Given the description of an element on the screen output the (x, y) to click on. 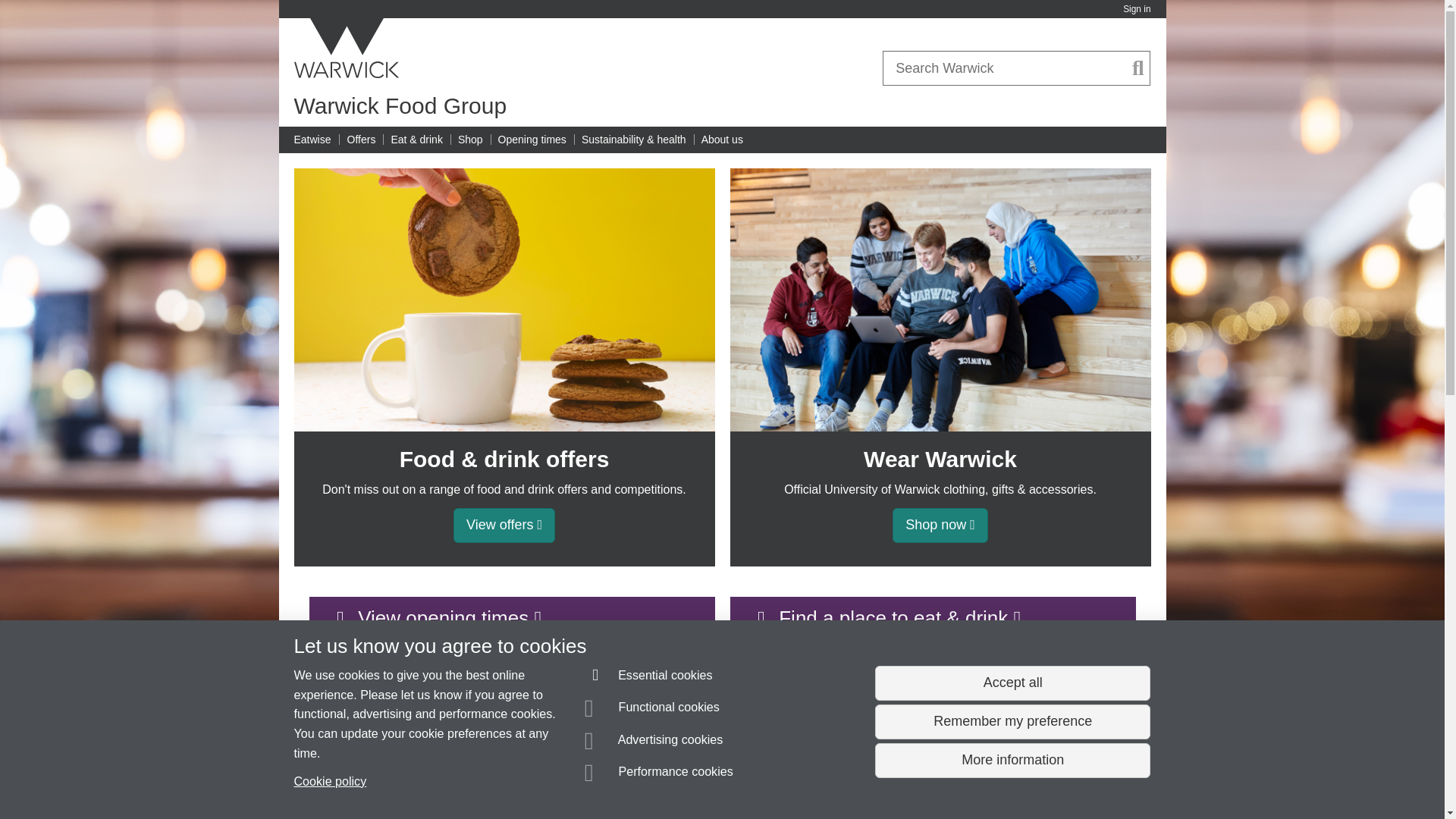
University of Warwick homepage (346, 48)
View opening times (511, 618)
Shop now (940, 524)
Essential cookies are always on (649, 677)
Shop (470, 139)
Sign in (1136, 9)
Accept all functional, advertising and performance cookies (1012, 683)
Eatwise (312, 139)
Opening times (531, 139)
About us (721, 139)
View offers (503, 524)
